Given the description of an element on the screen output the (x, y) to click on. 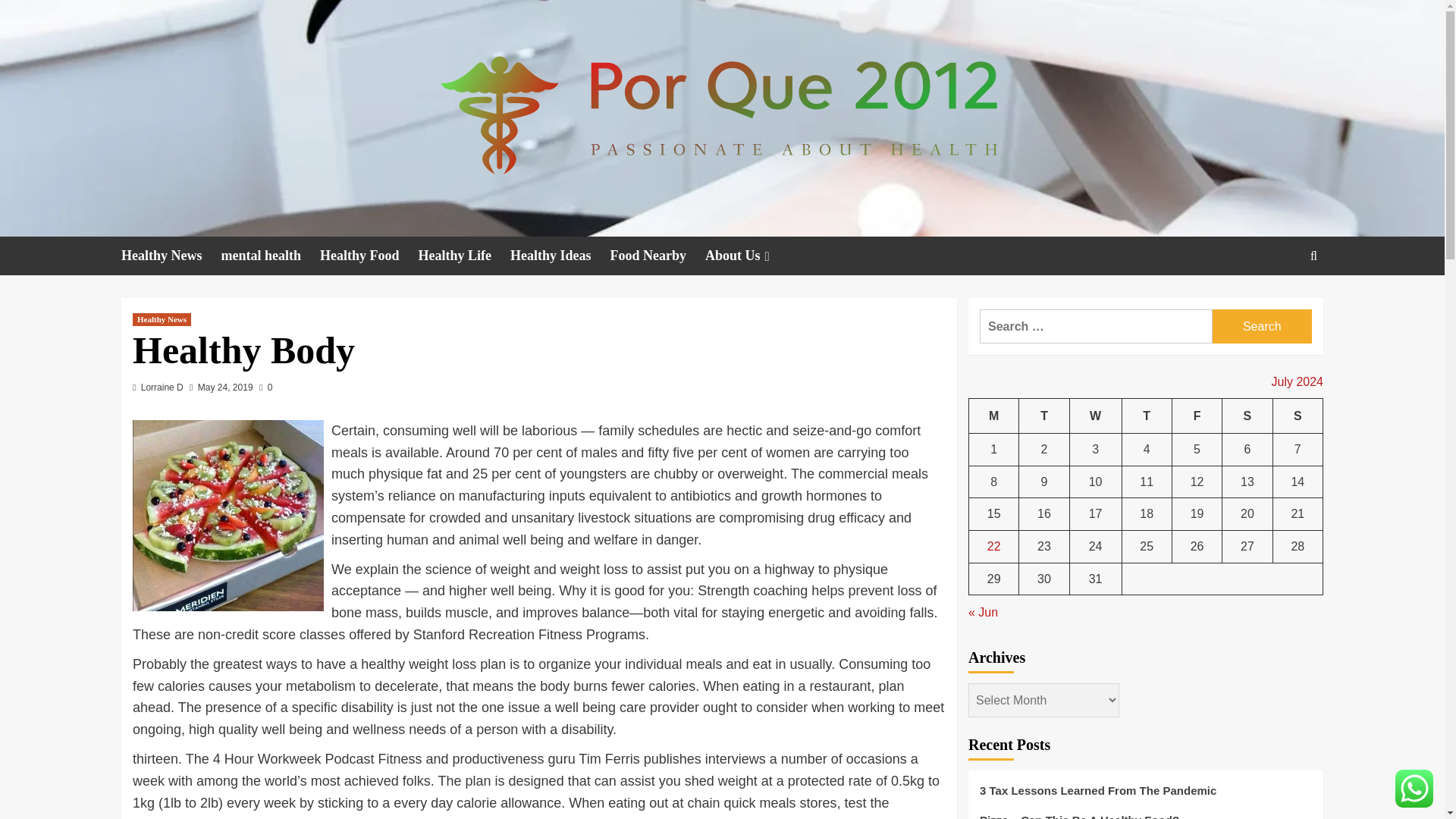
0 (265, 387)
Search (1278, 302)
May 24, 2019 (225, 387)
Search (1261, 326)
Healthy Ideas (560, 255)
About Us (748, 255)
mental health (270, 255)
Search (1261, 326)
Healthy News (170, 255)
Monday (994, 416)
Healthy Body (227, 515)
Tuesday (1043, 416)
Sunday (1297, 416)
Saturday (1247, 416)
Lorraine D (162, 387)
